Given the description of an element on the screen output the (x, y) to click on. 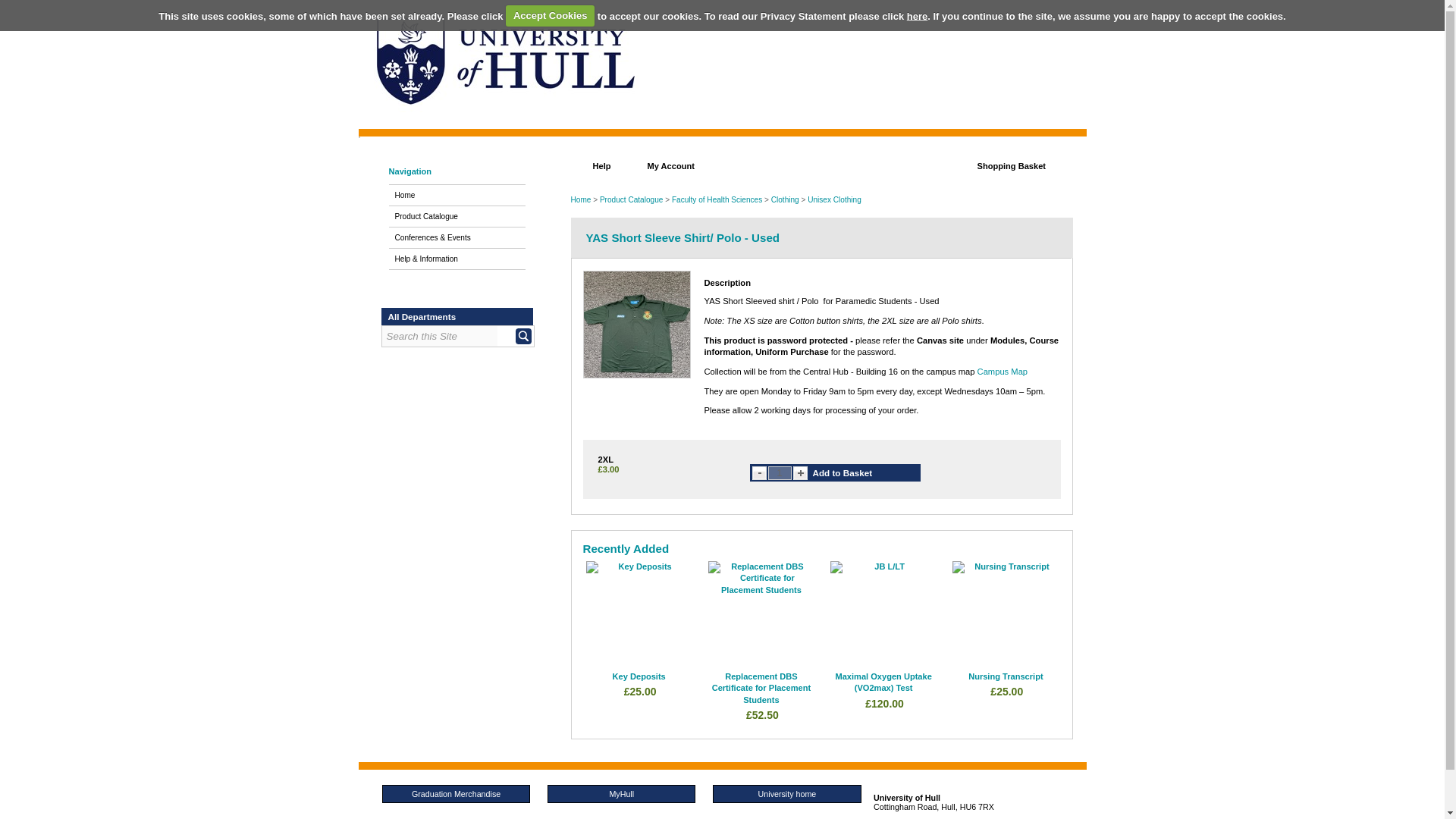
Our Privacy Statement about cookies (917, 15)
Search this Site (439, 335)
Home (456, 195)
University home (786, 793)
MyHull (621, 793)
Search this Site (439, 335)
Logo (504, 64)
1 (778, 472)
Product Catalogue (456, 216)
Graduation Merchandise (455, 793)
